Given the description of an element on the screen output the (x, y) to click on. 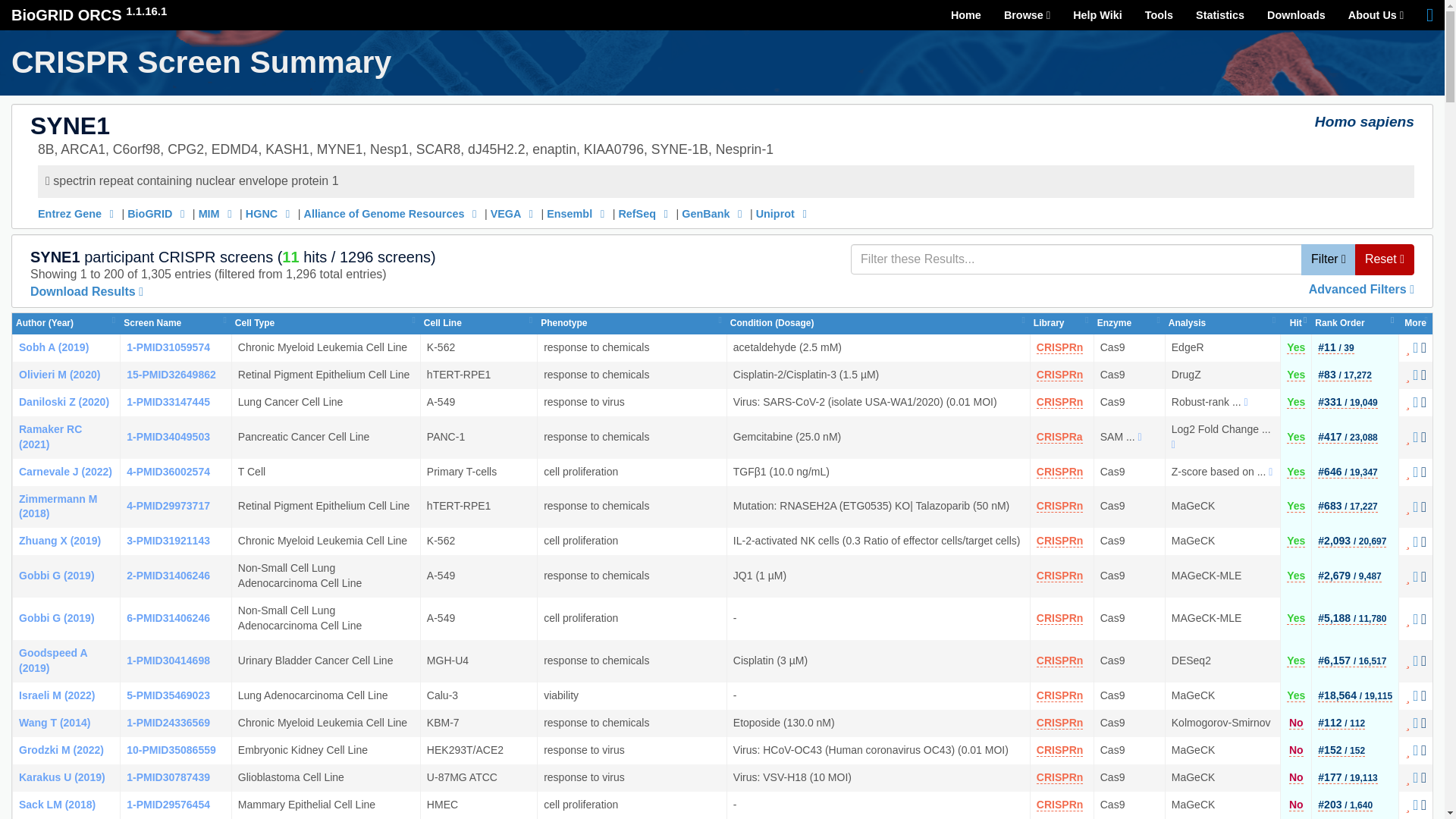
RefSeq (644, 214)
View in MIM (216, 214)
Browse Screens (1026, 15)
BioGRID (158, 214)
VEGA (514, 214)
View in BioGRID (158, 214)
GenBank (713, 214)
Downloads (1295, 15)
15-PMID32649862 (170, 374)
Download Results (86, 291)
Advanced Filters (1360, 288)
Tools (1159, 15)
Home (965, 15)
View in HGNC (270, 214)
Entrez Gene (77, 214)
